Given the description of an element on the screen output the (x, y) to click on. 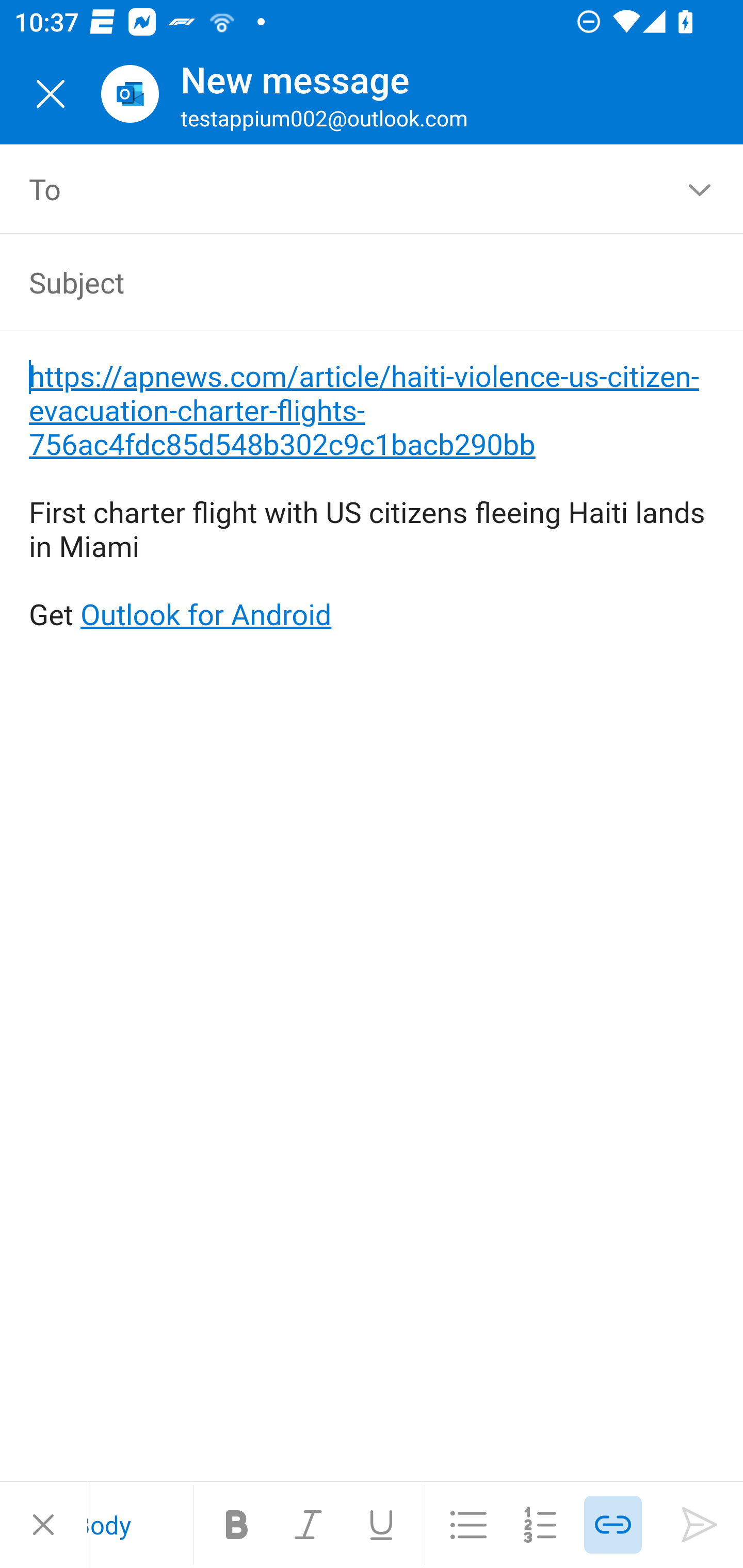
Close (50, 93)
Subject (342, 281)
Close (43, 1524)
Send (699, 1524)
Font style button body Body (139, 1524)
Bold (236, 1524)
Italics (309, 1524)
Underline (381, 1524)
Bulleted list (468, 1524)
Numbered list (540, 1524)
Add link (612, 1524)
